Given the description of an element on the screen output the (x, y) to click on. 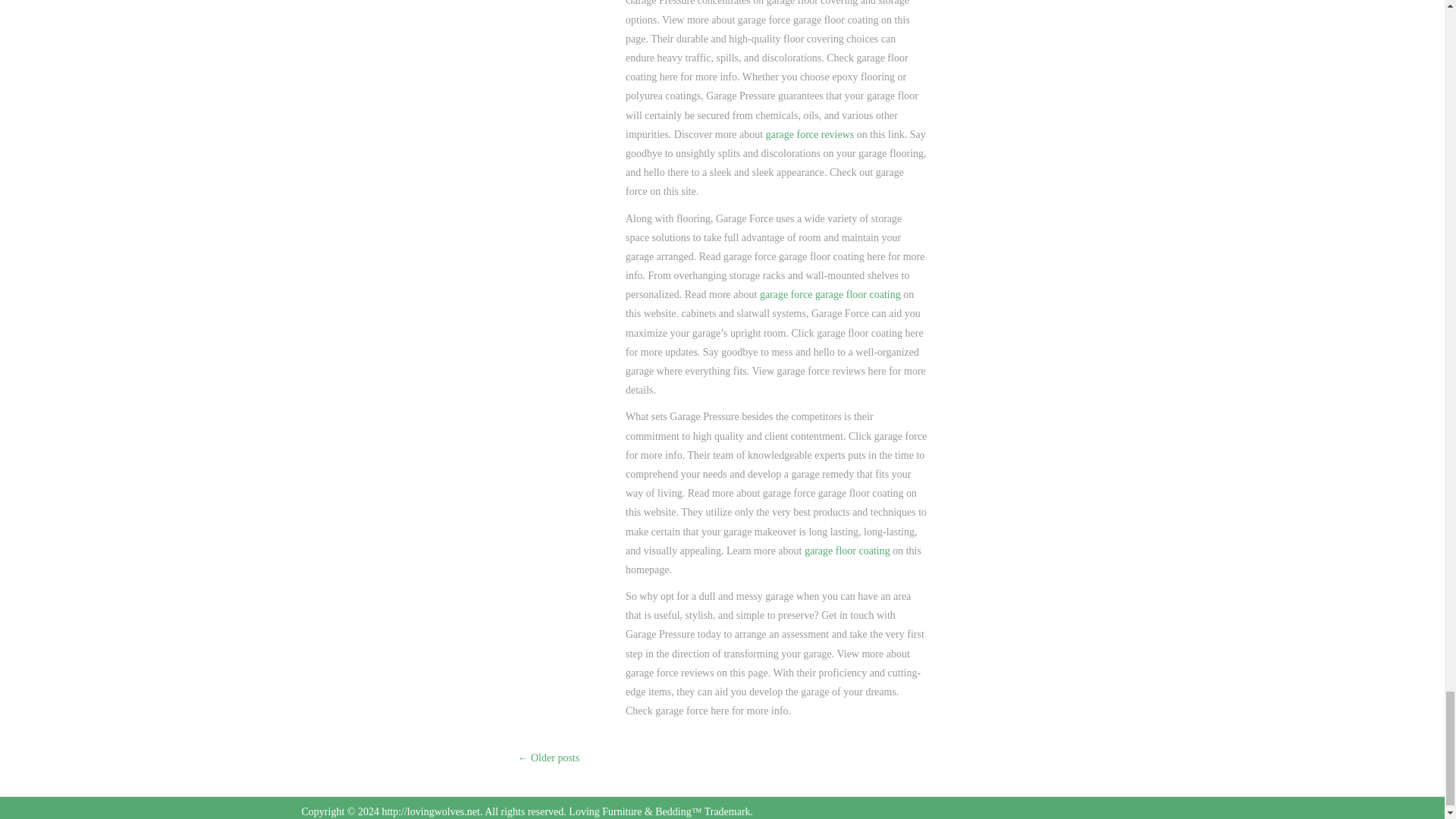
garage force reviews (809, 134)
garage force garage floor coating (830, 294)
garage floor coating (847, 550)
